Given the description of an element on the screen output the (x, y) to click on. 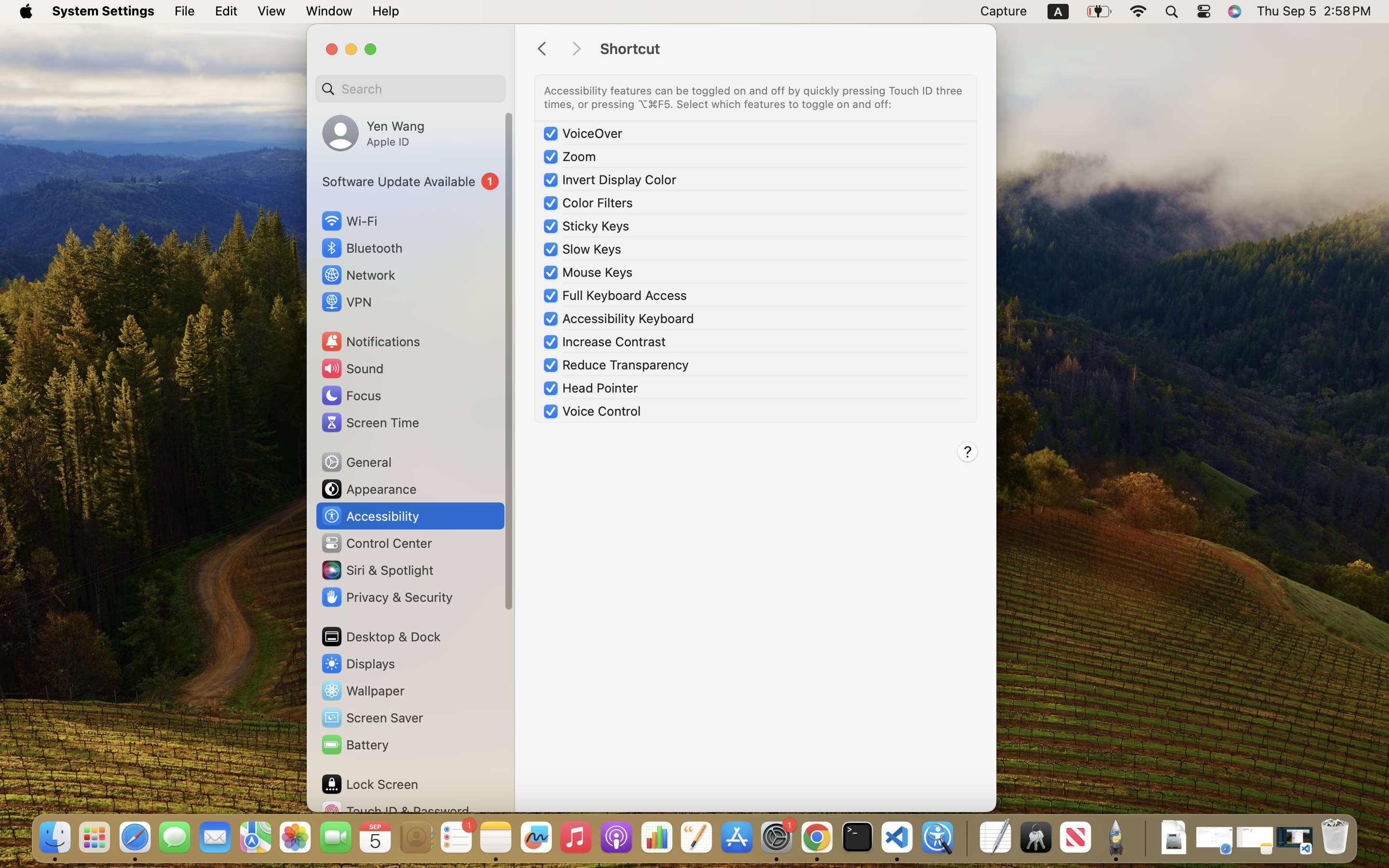
Notifications Element type: AXStaticText (370, 340)
Bluetooth Element type: AXStaticText (361, 247)
Privacy & Security Element type: AXStaticText (386, 596)
Sound Element type: AXStaticText (351, 367)
Lock Screen Element type: AXStaticText (369, 783)
